Given the description of an element on the screen output the (x, y) to click on. 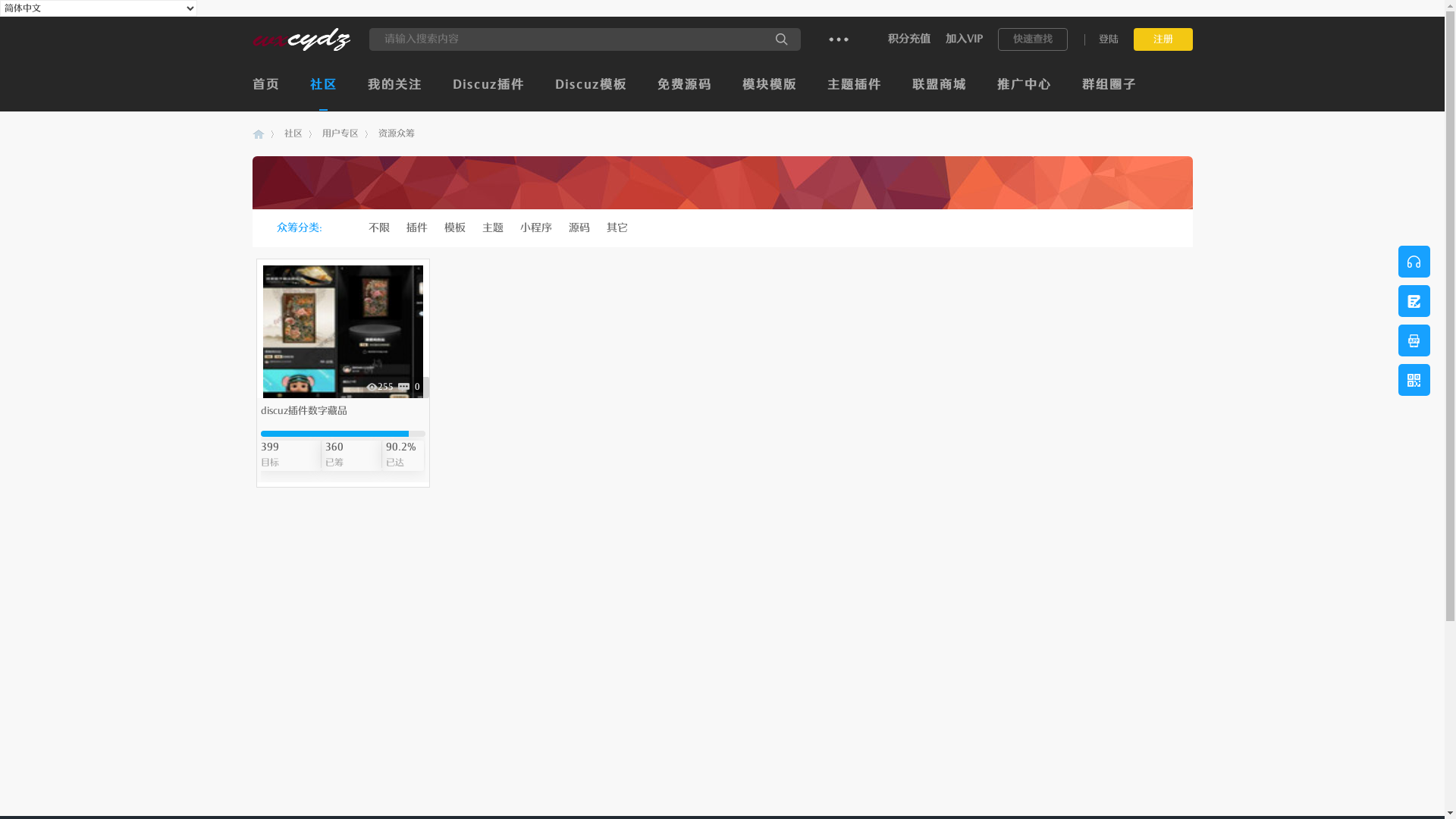
true Element type: text (781, 39)
